Given the description of an element on the screen output the (x, y) to click on. 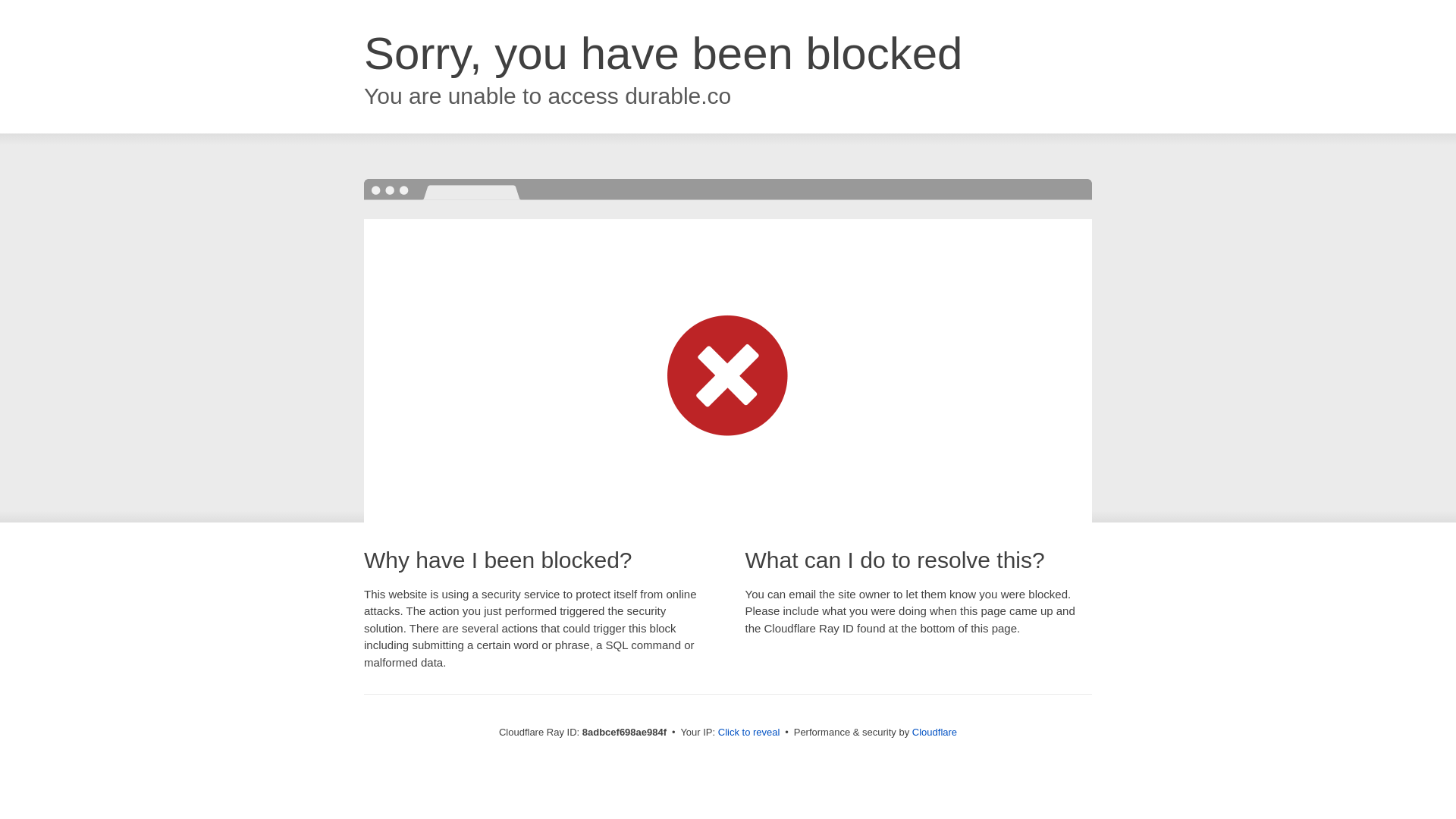
Click to reveal (748, 732)
Cloudflare (934, 731)
